Given the description of an element on the screen output the (x, y) to click on. 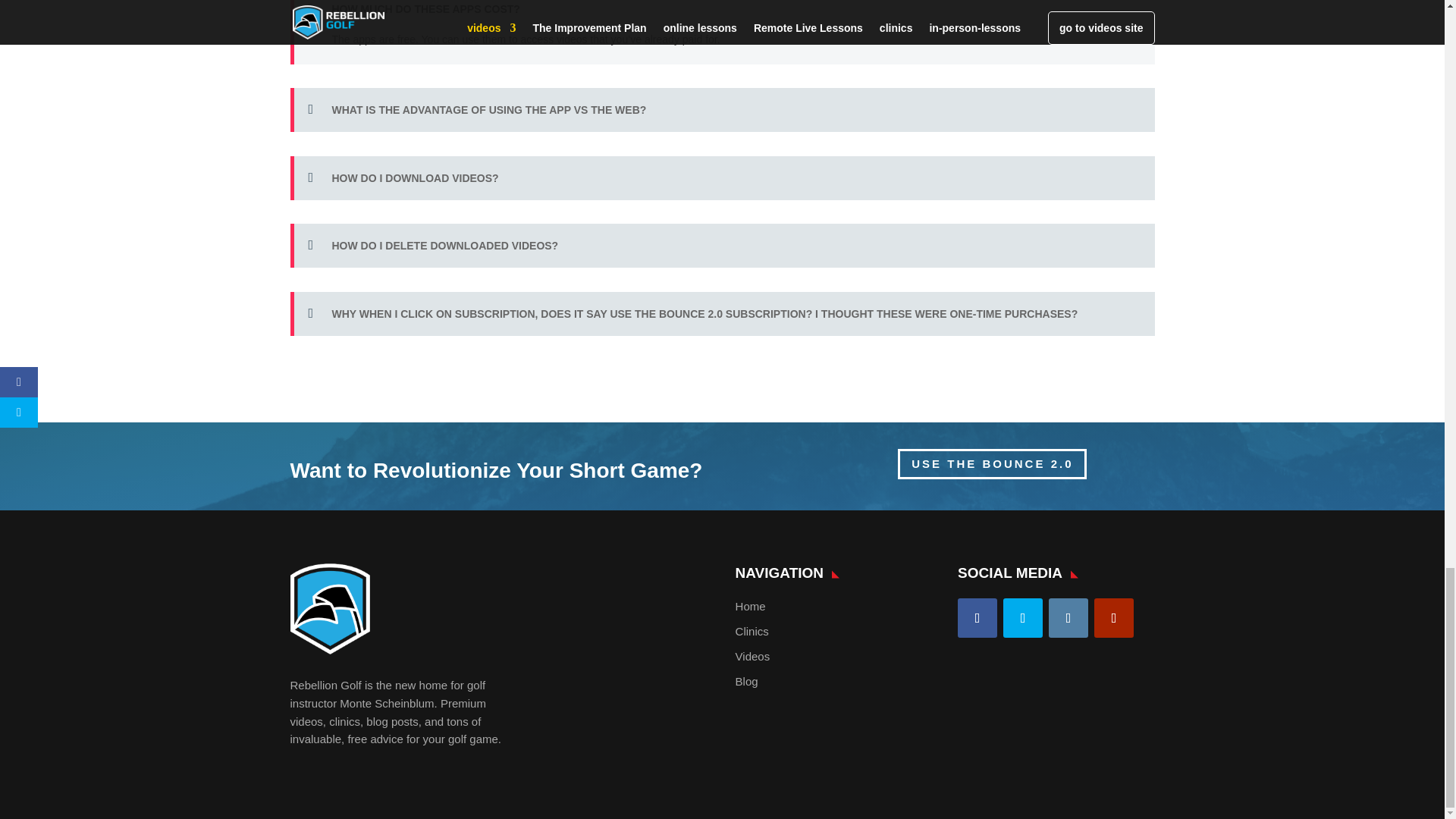
Follow on Instagram (1067, 618)
Follow on Youtube (1114, 618)
Follow on Twitter (1022, 618)
Blog (746, 680)
Follow on Facebook (977, 618)
Clinics (751, 631)
USE THE BOUNCE 2.0 (992, 463)
Home (750, 605)
Videos (752, 656)
